Given the description of an element on the screen output the (x, y) to click on. 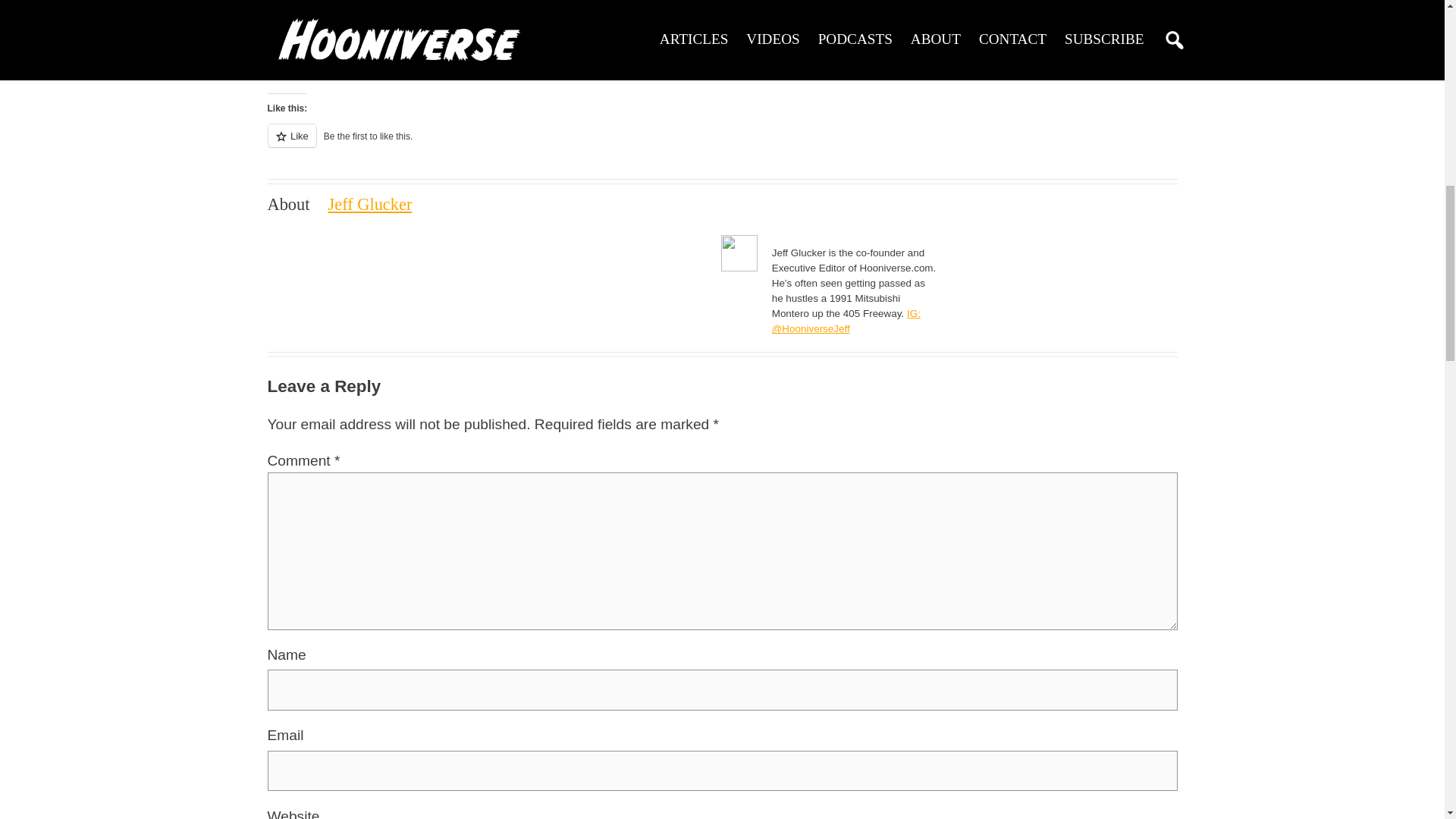
Team Valvoline portal for some more great content (708, 53)
Like or Reblog (721, 144)
Jeff Glucker (369, 203)
